Given the description of an element on the screen output the (x, y) to click on. 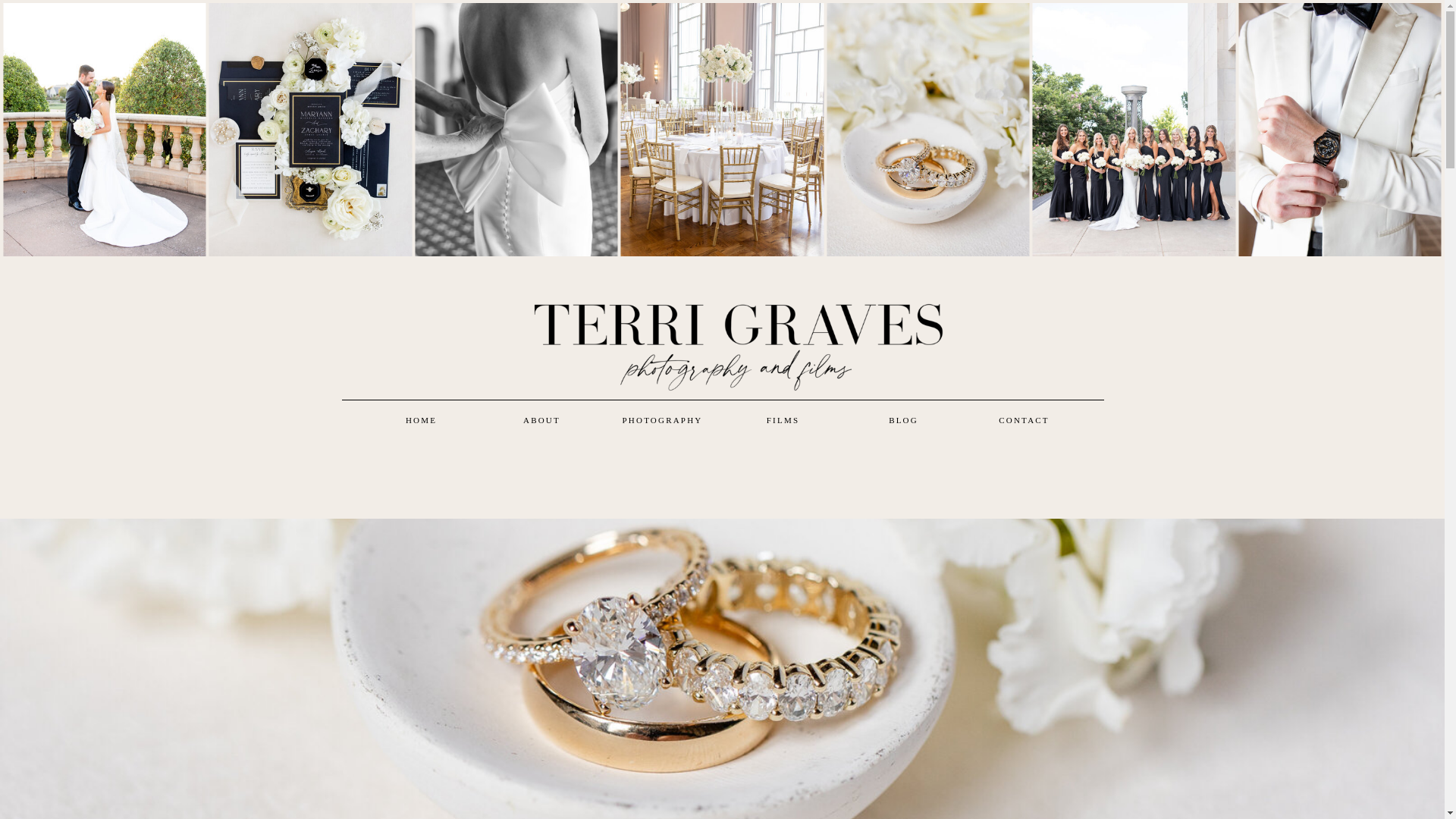
PHOTOGRAPHY (661, 421)
CONTACT (1023, 421)
FILMS (783, 421)
ABOUT (541, 421)
HOME (420, 421)
BLOG (902, 421)
